Given the description of an element on the screen output the (x, y) to click on. 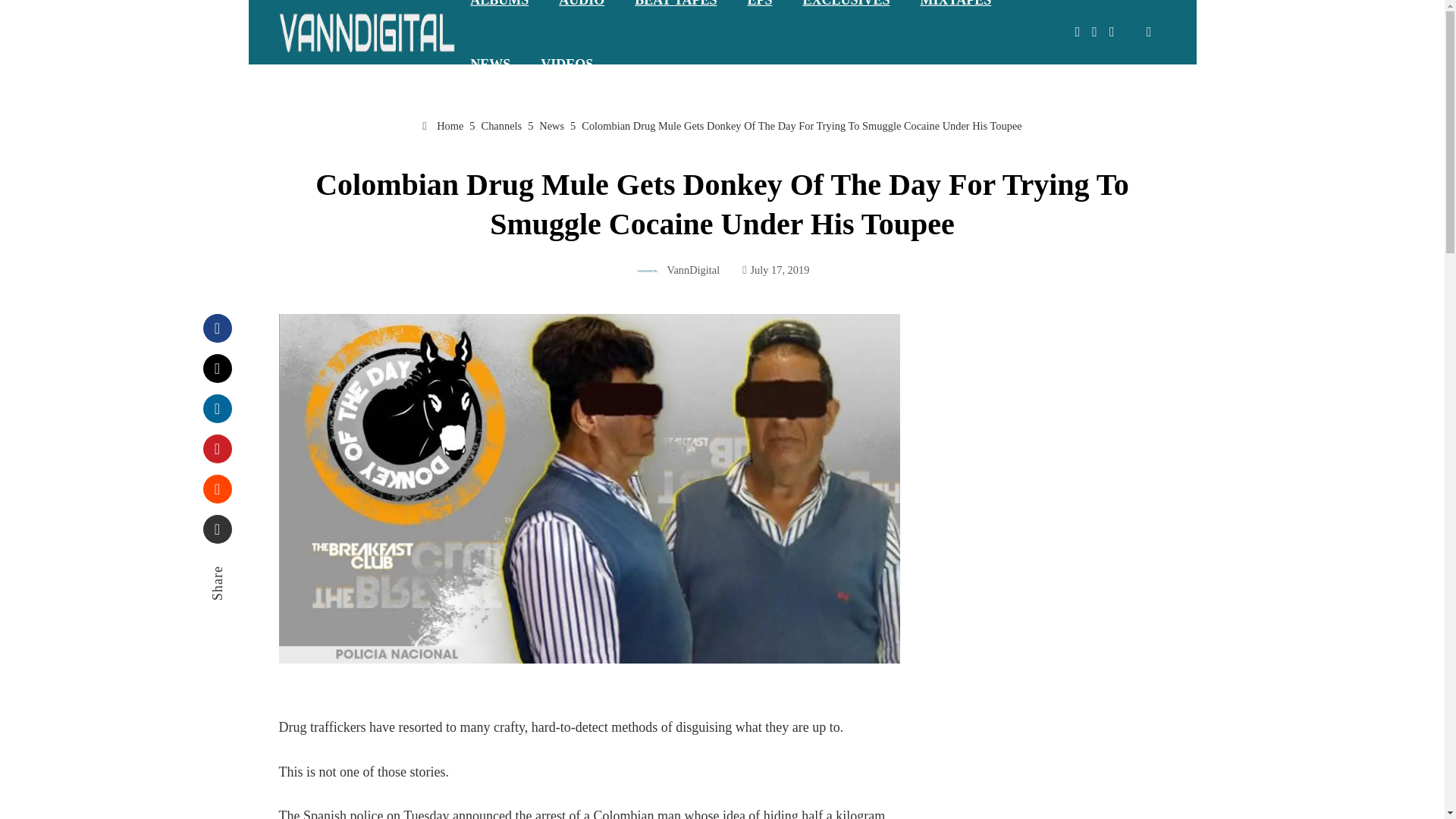
Channels (501, 125)
AUDIO (581, 16)
Facebook (217, 328)
Search (37, 18)
Stumbleupon (217, 489)
VIDEOS (566, 63)
LinkedIn (217, 408)
NEWS (489, 63)
Pinterest (217, 448)
ALBUMS (498, 16)
